Given the description of an element on the screen output the (x, y) to click on. 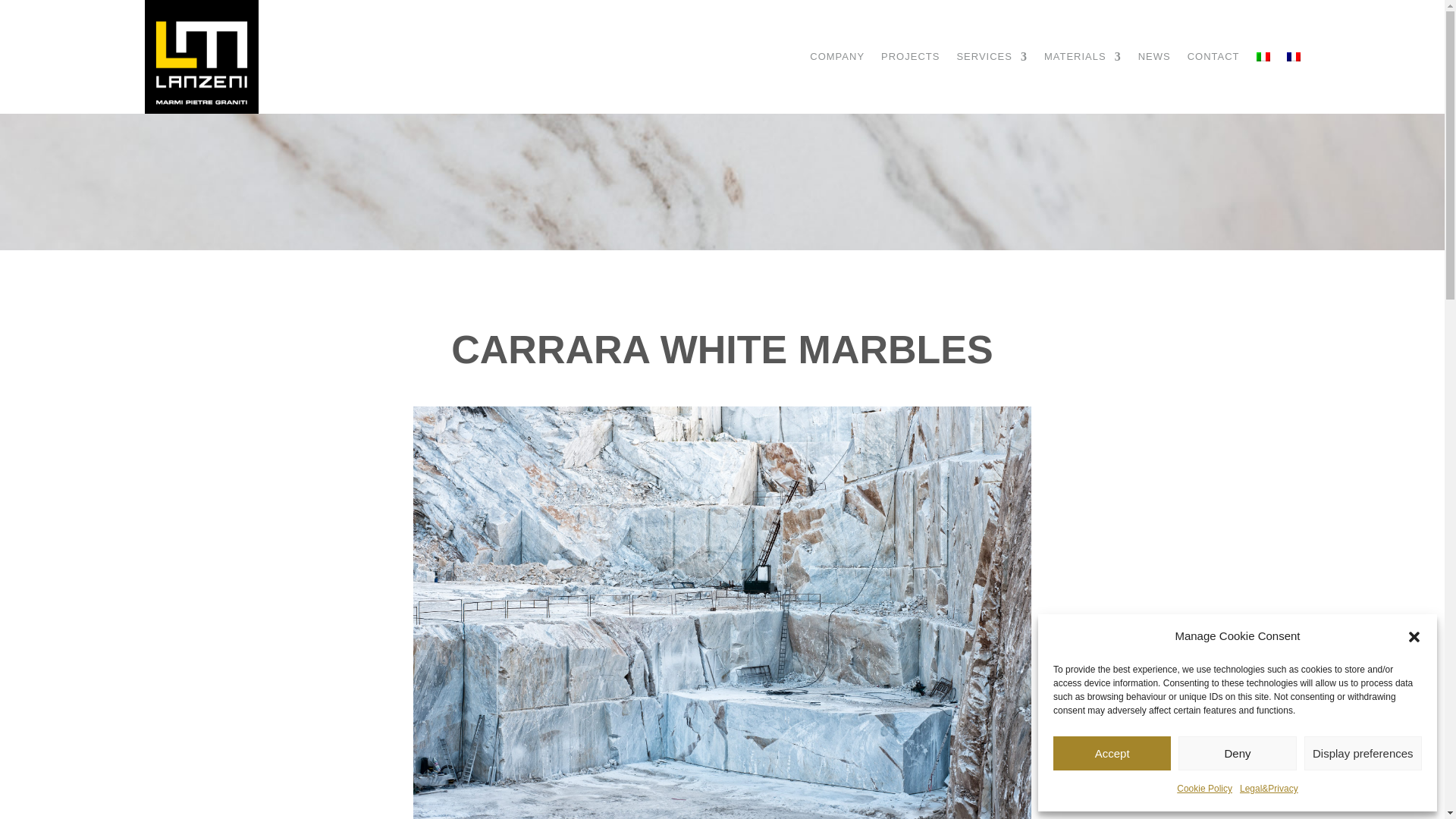
Deny (1236, 753)
Cookie Policy (1203, 789)
Accept (1111, 753)
Display preferences (1363, 753)
